Given the description of an element on the screen output the (x, y) to click on. 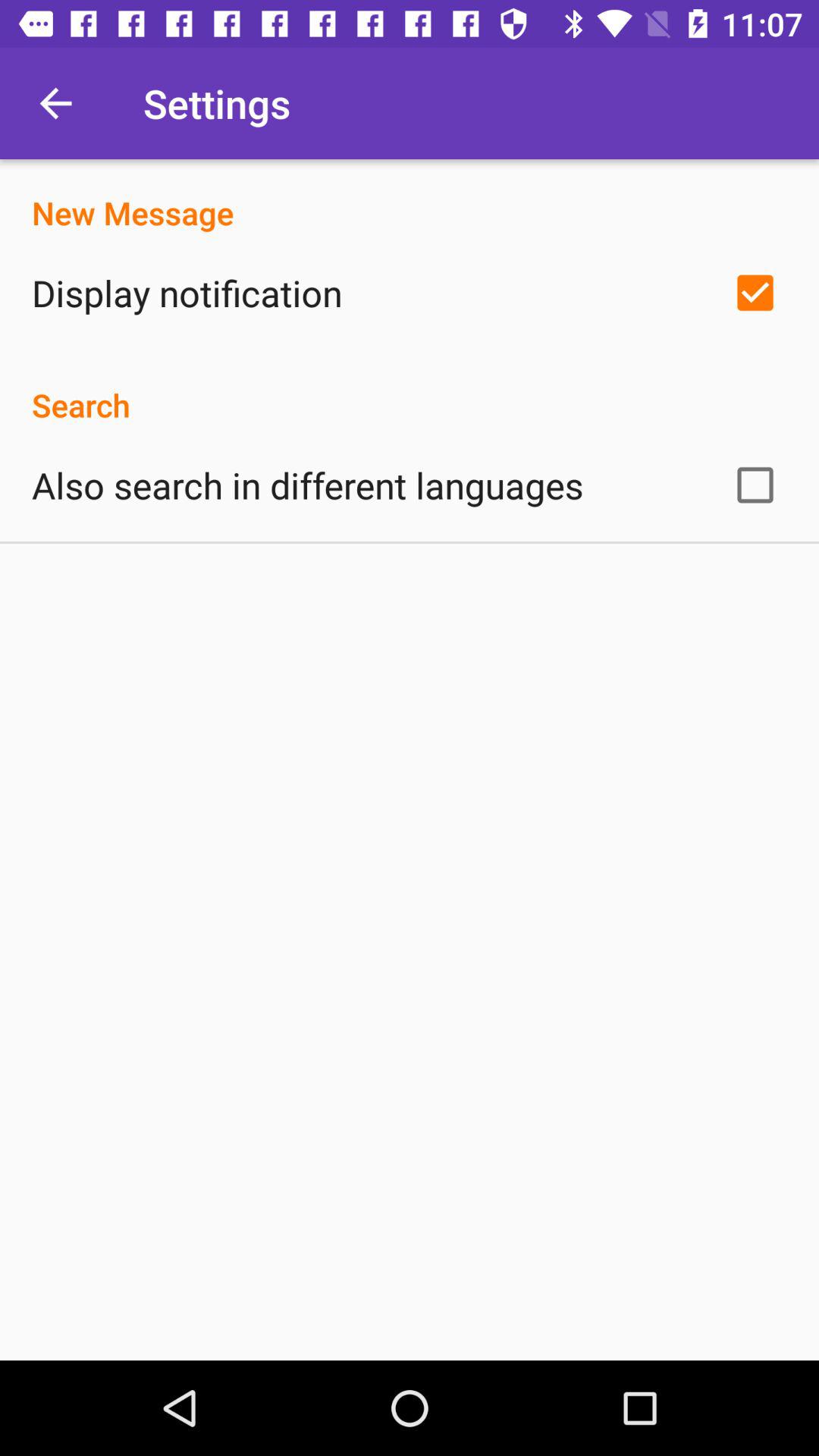
scroll until also search in item (307, 484)
